Given the description of an element on the screen output the (x, y) to click on. 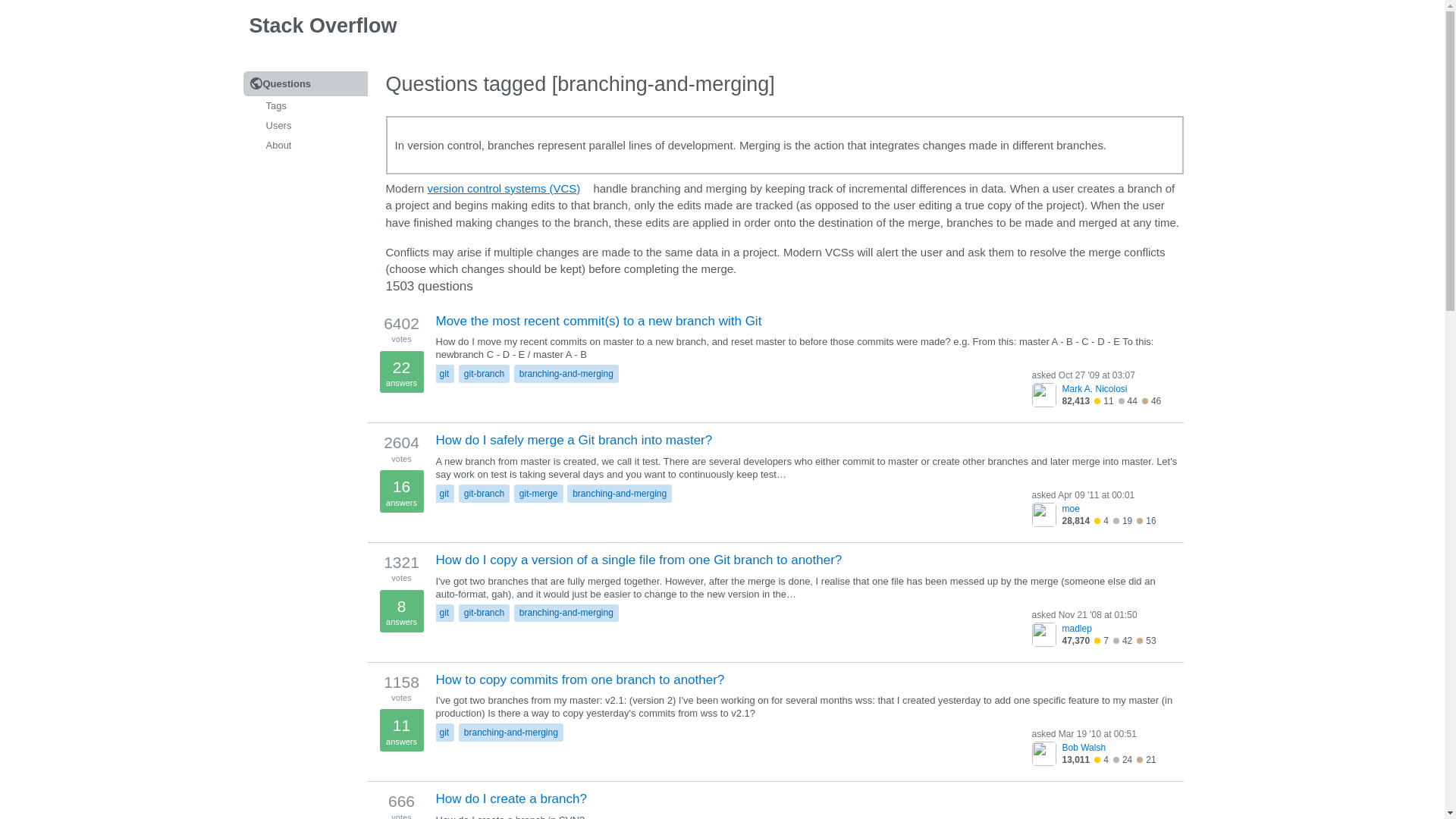
16 bronze badges (1146, 520)
Mark A. Nicolosi (1115, 388)
Users (304, 125)
4 gold badges (1101, 520)
show questions tagged 'git' (443, 613)
git-branch (483, 493)
git-branch (483, 373)
show questions tagged 'git' (443, 373)
11 gold badges (1103, 400)
git-merge (538, 493)
